Given the description of an element on the screen output the (x, y) to click on. 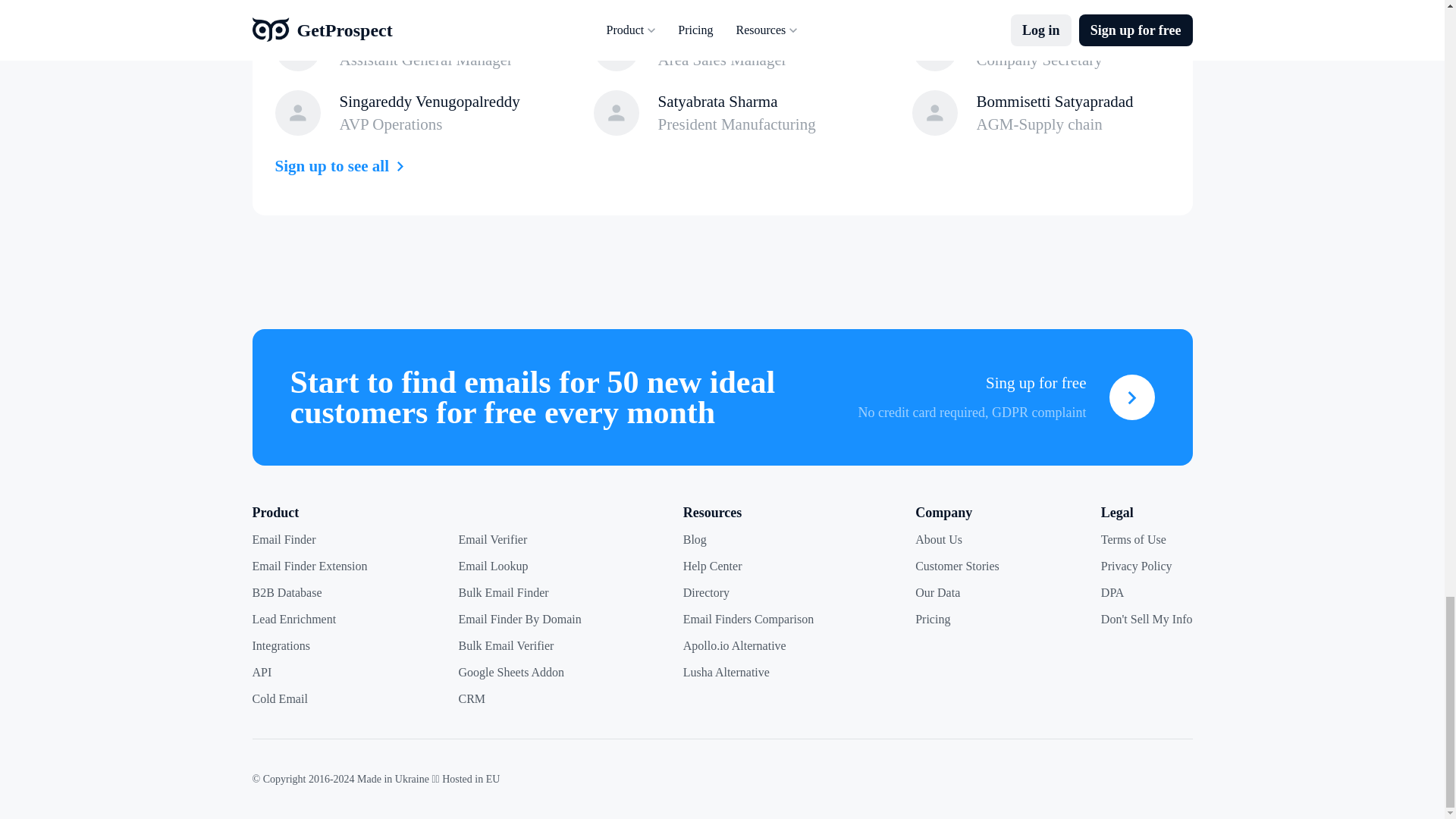
Email Finder (283, 539)
Sign up to see all (343, 165)
